Given the description of an element on the screen output the (x, y) to click on. 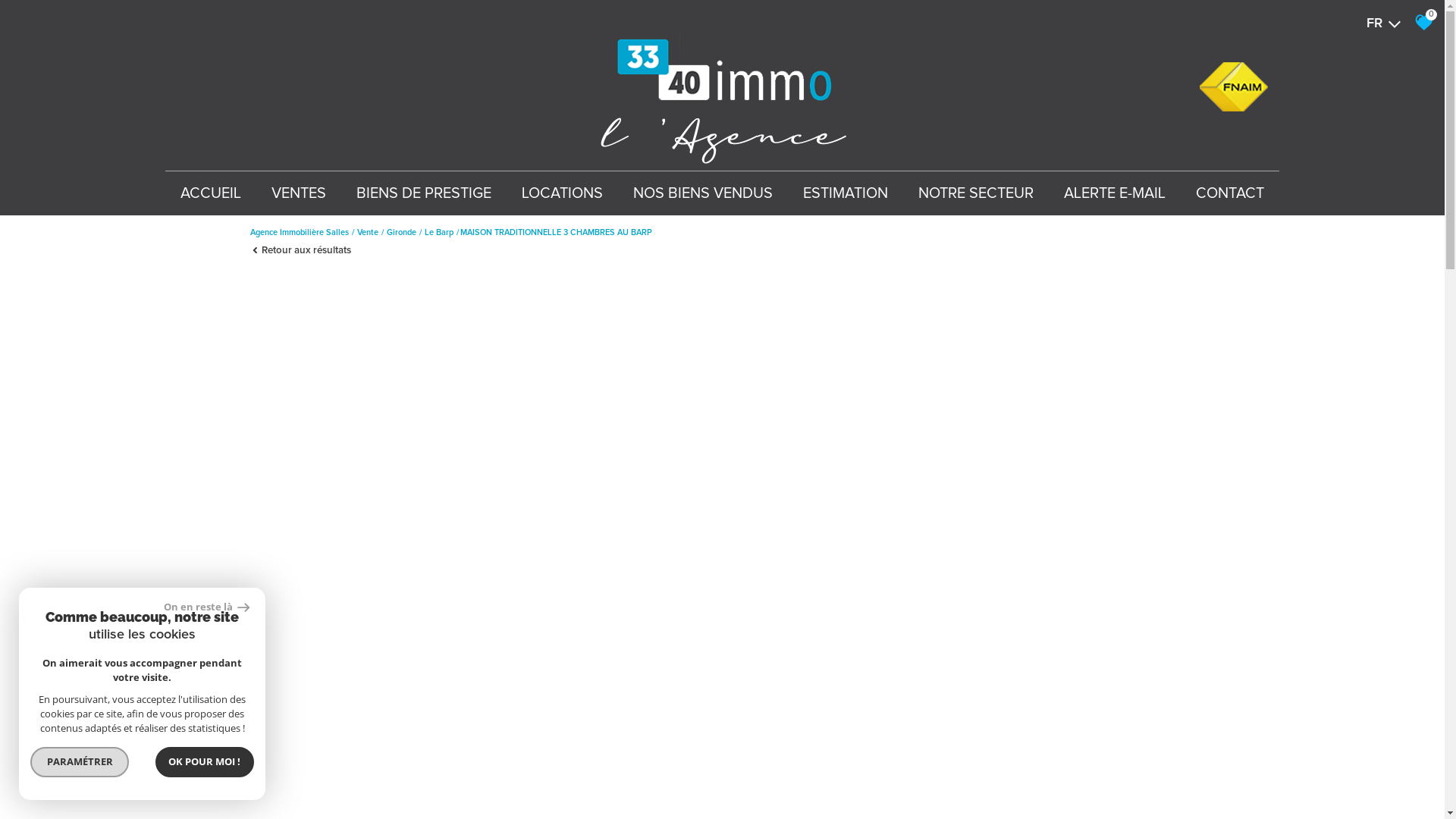
Le Barp Element type: text (439, 232)
OK POUR MOI ! Element type: text (204, 761)
NOS BIENS VENDUS Element type: text (702, 193)
VENTES Element type: text (298, 193)
Gironde Element type: text (401, 232)
LOCATIONS Element type: text (562, 193)
ACCUEIL Element type: text (210, 193)
CONTACT Element type: text (1229, 193)
BIENS DE PRESTIGE Element type: text (423, 193)
Vente Element type: text (366, 232)
ALERTE E-MAIL Element type: text (1114, 193)
ESTIMATION Element type: text (845, 193)
0 Element type: text (1419, 22)
NOTRE SECTEUR Element type: text (975, 193)
